Given the description of an element on the screen output the (x, y) to click on. 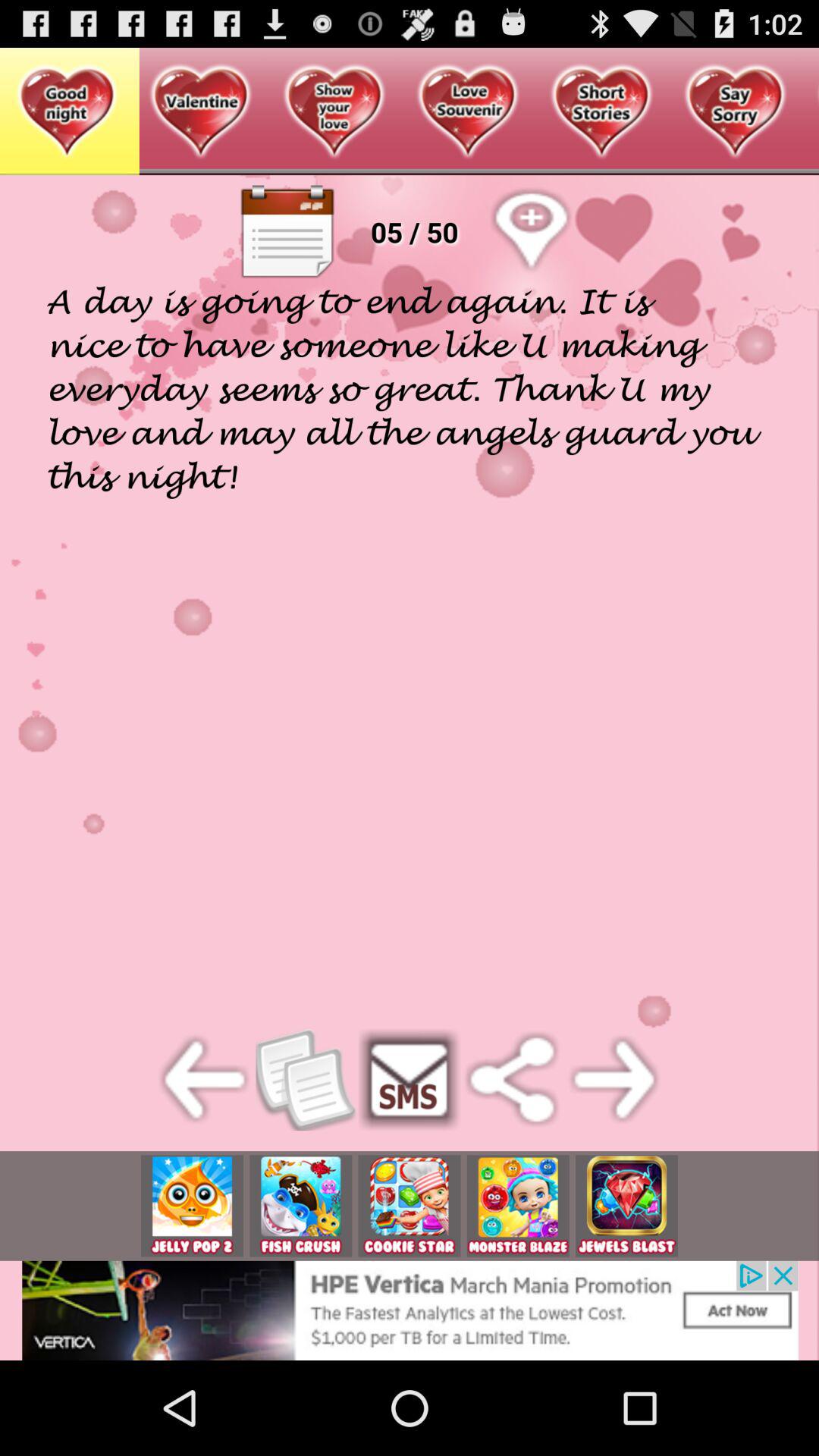
send sms (409, 1079)
